Given the description of an element on the screen output the (x, y) to click on. 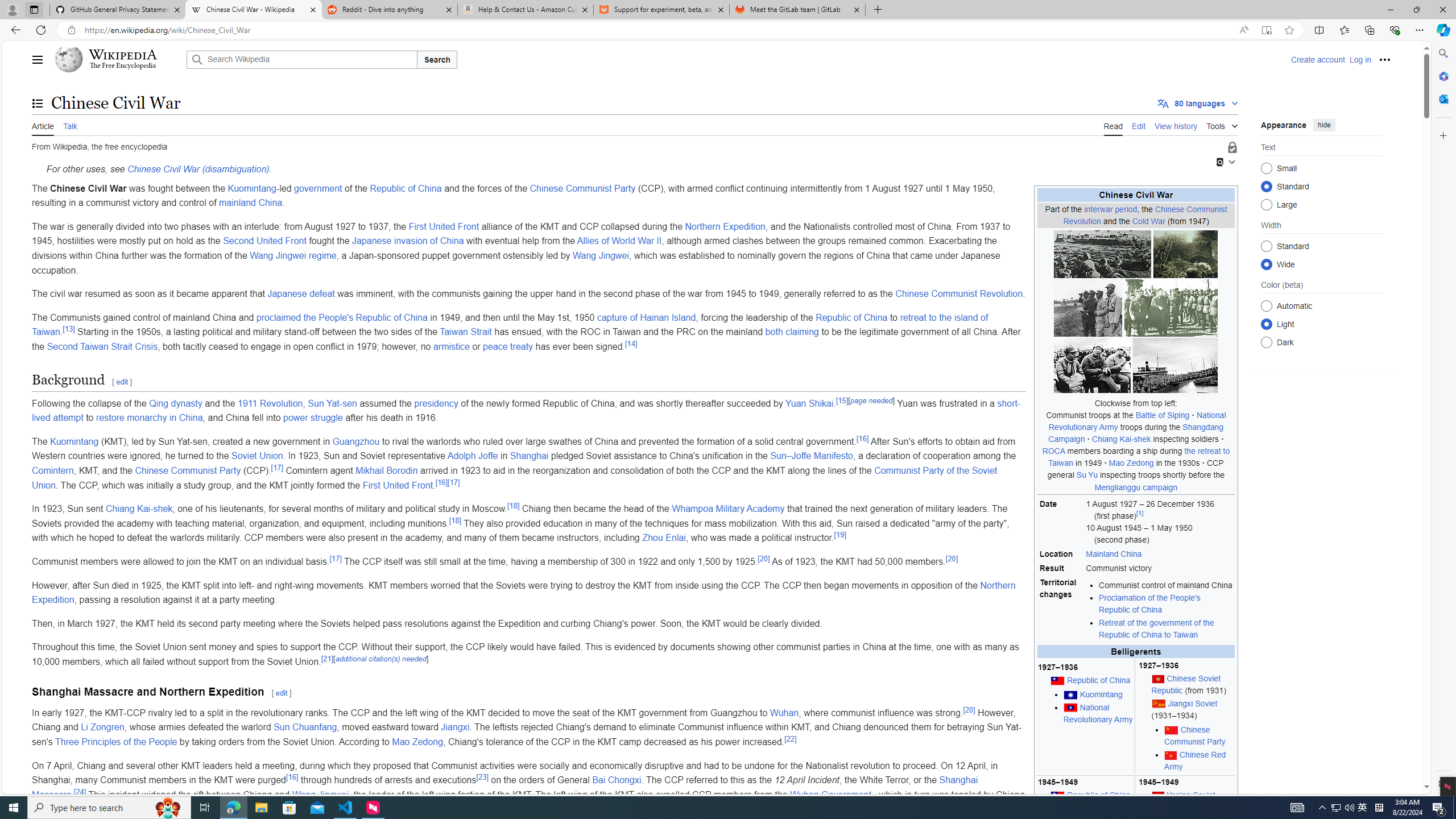
View history (1176, 124)
Search Wikipedia (301, 59)
Zhou Enlai (663, 537)
mainland China (250, 203)
Sun Yat-sen (331, 403)
Chinese Soviet Republic (1186, 684)
Edit (1138, 124)
Read (1112, 124)
